Given the description of an element on the screen output the (x, y) to click on. 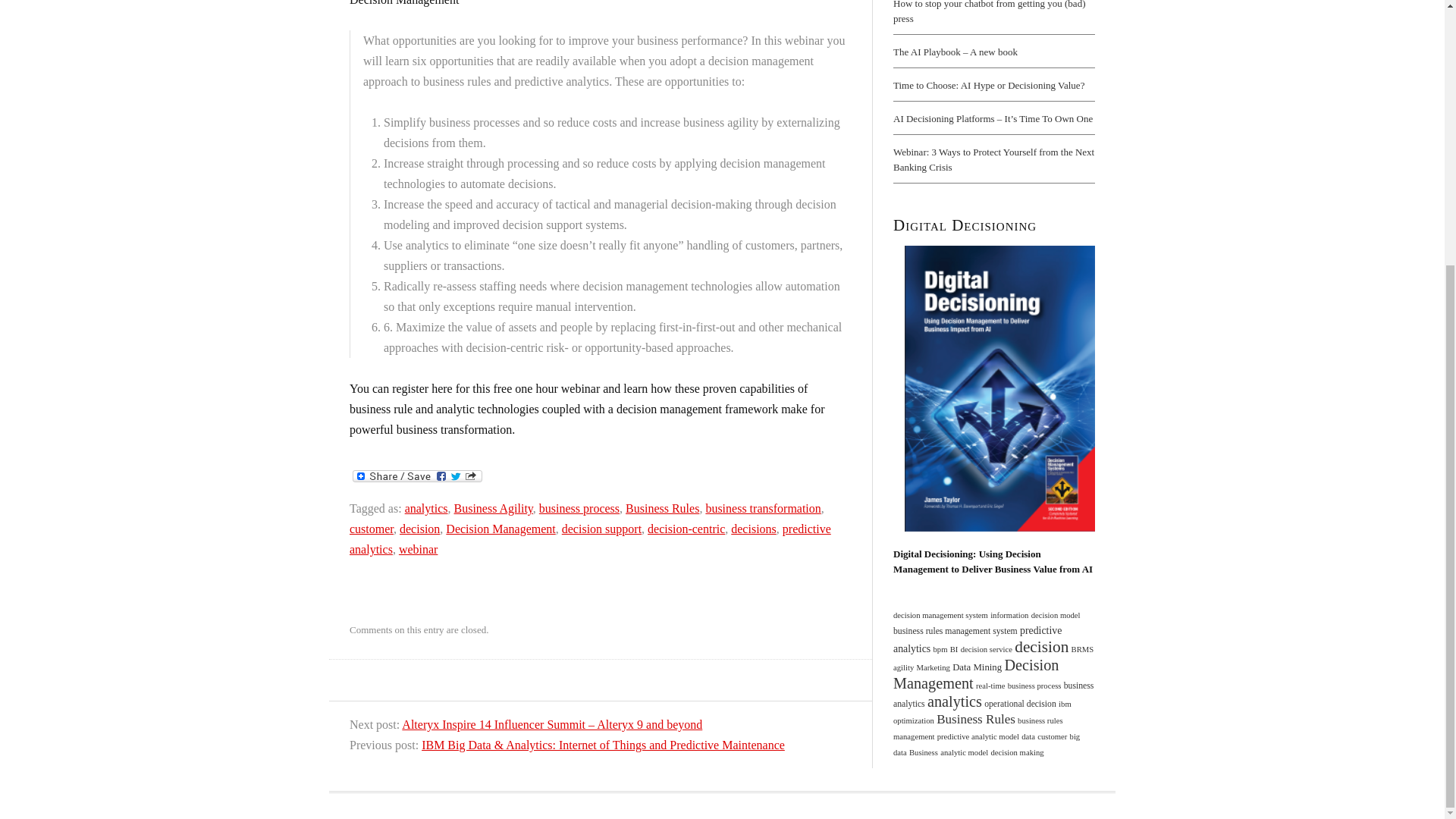
Business Rules (662, 508)
business transformation (762, 508)
decision (418, 528)
251 topics (1082, 649)
1399 topics (1041, 647)
decisions (753, 528)
204 topics (903, 667)
webinar (418, 549)
business process (579, 508)
402 topics (955, 630)
